Given the description of an element on the screen output the (x, y) to click on. 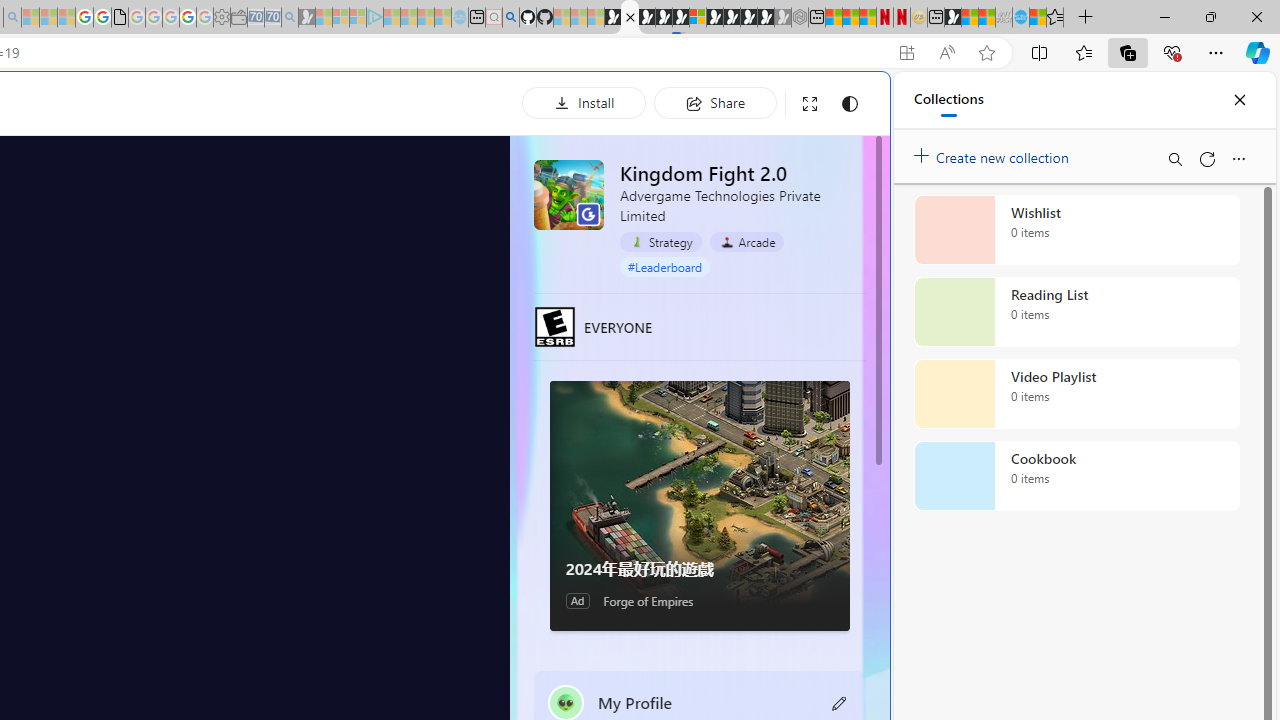
Search or enter web address (343, 191)
#Leaderboard (664, 267)
EVERYONE (554, 326)
Class: button edit-icon (839, 702)
Earth has six continents not seven, radical new study claims (986, 17)
Reading List collection, 0 items (1076, 312)
